Given the description of an element on the screen output the (x, y) to click on. 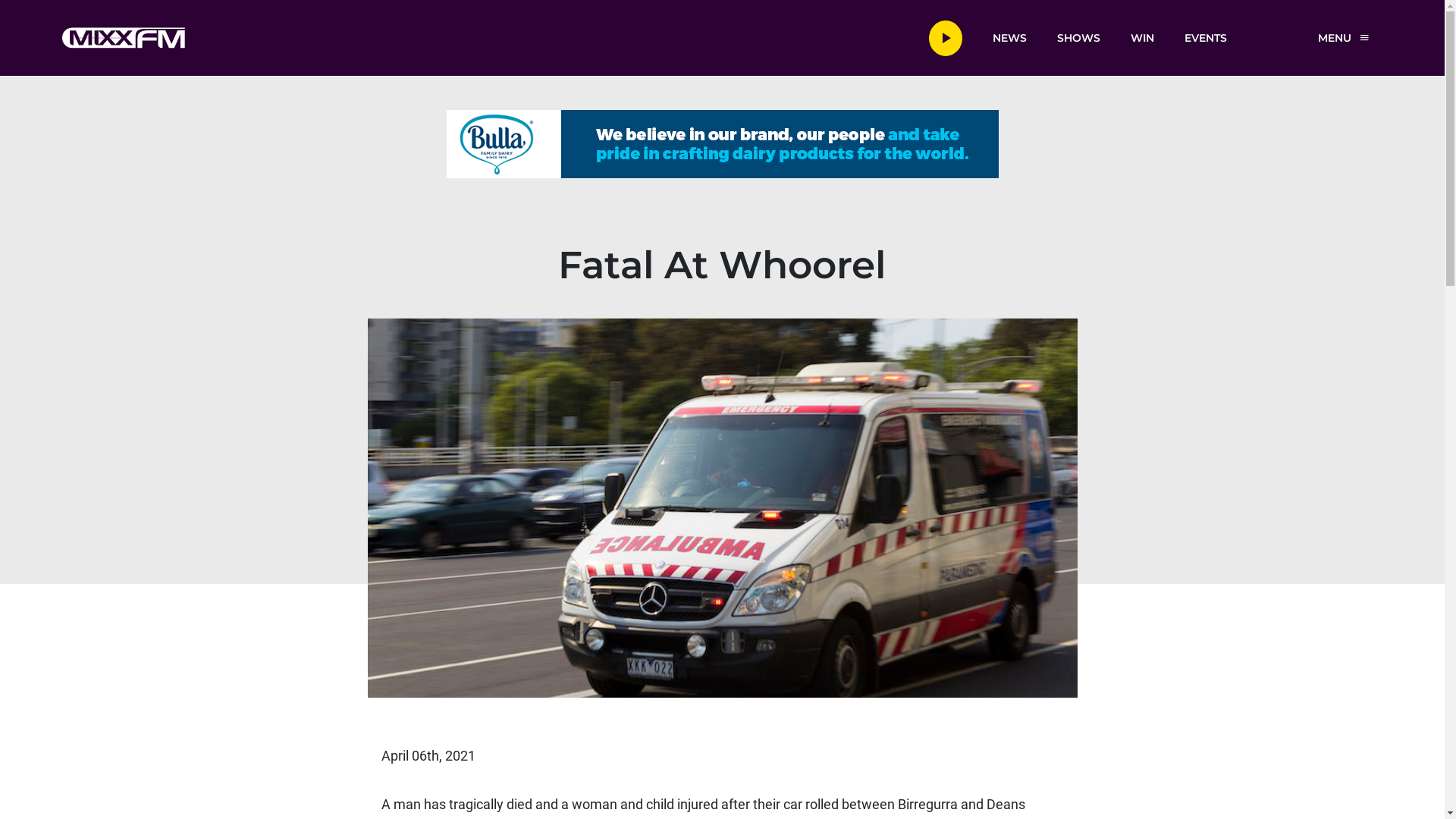
WIN Element type: text (1141, 36)
SHOWS Element type: text (1078, 36)
EVENTS Element type: text (1205, 36)
NEWS Element type: text (1008, 36)
